Given the description of an element on the screen output the (x, y) to click on. 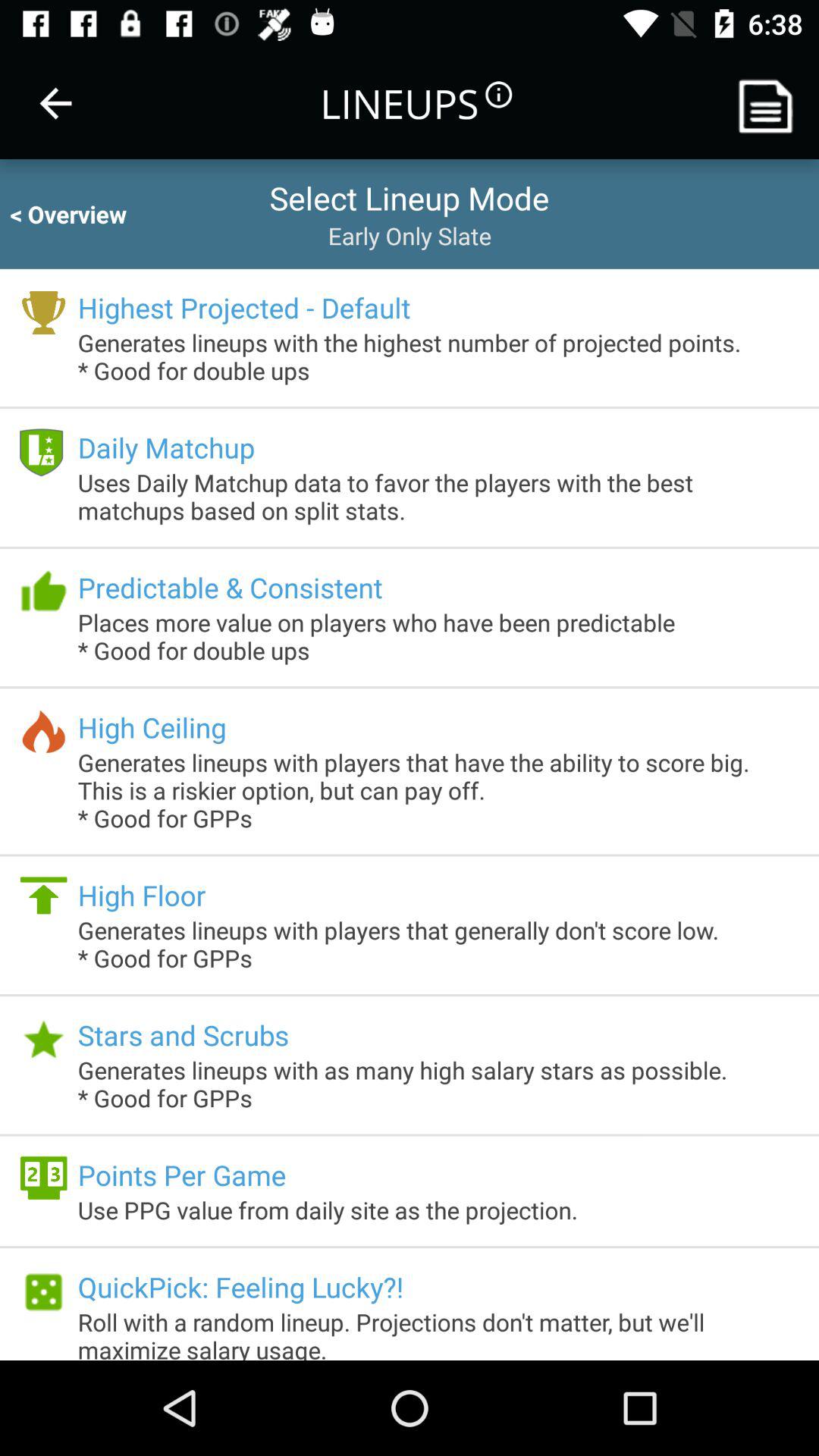
option list (771, 103)
